Given the description of an element on the screen output the (x, y) to click on. 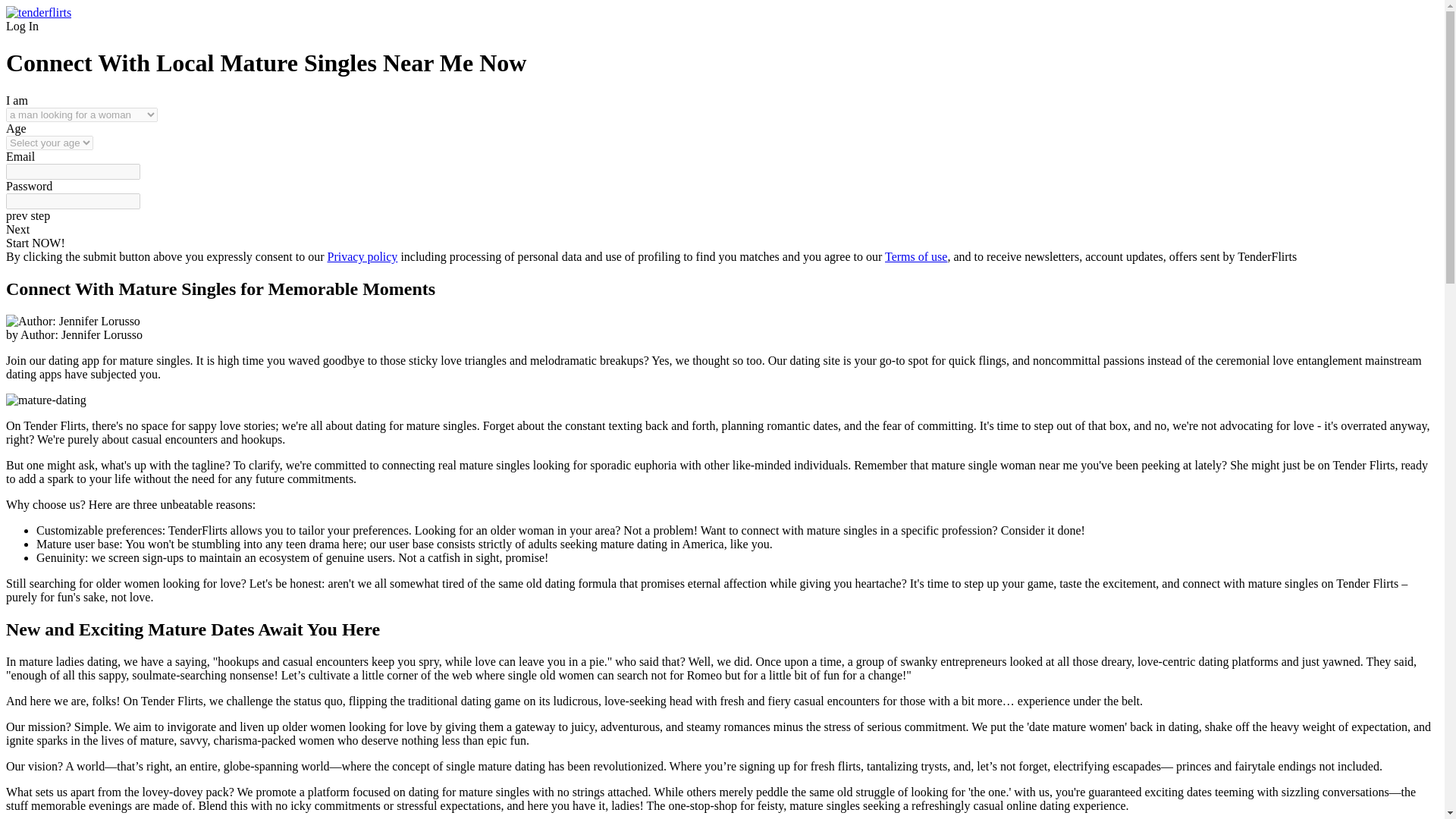
Privacy policy (362, 256)
Terms of use (916, 256)
